Given the description of an element on the screen output the (x, y) to click on. 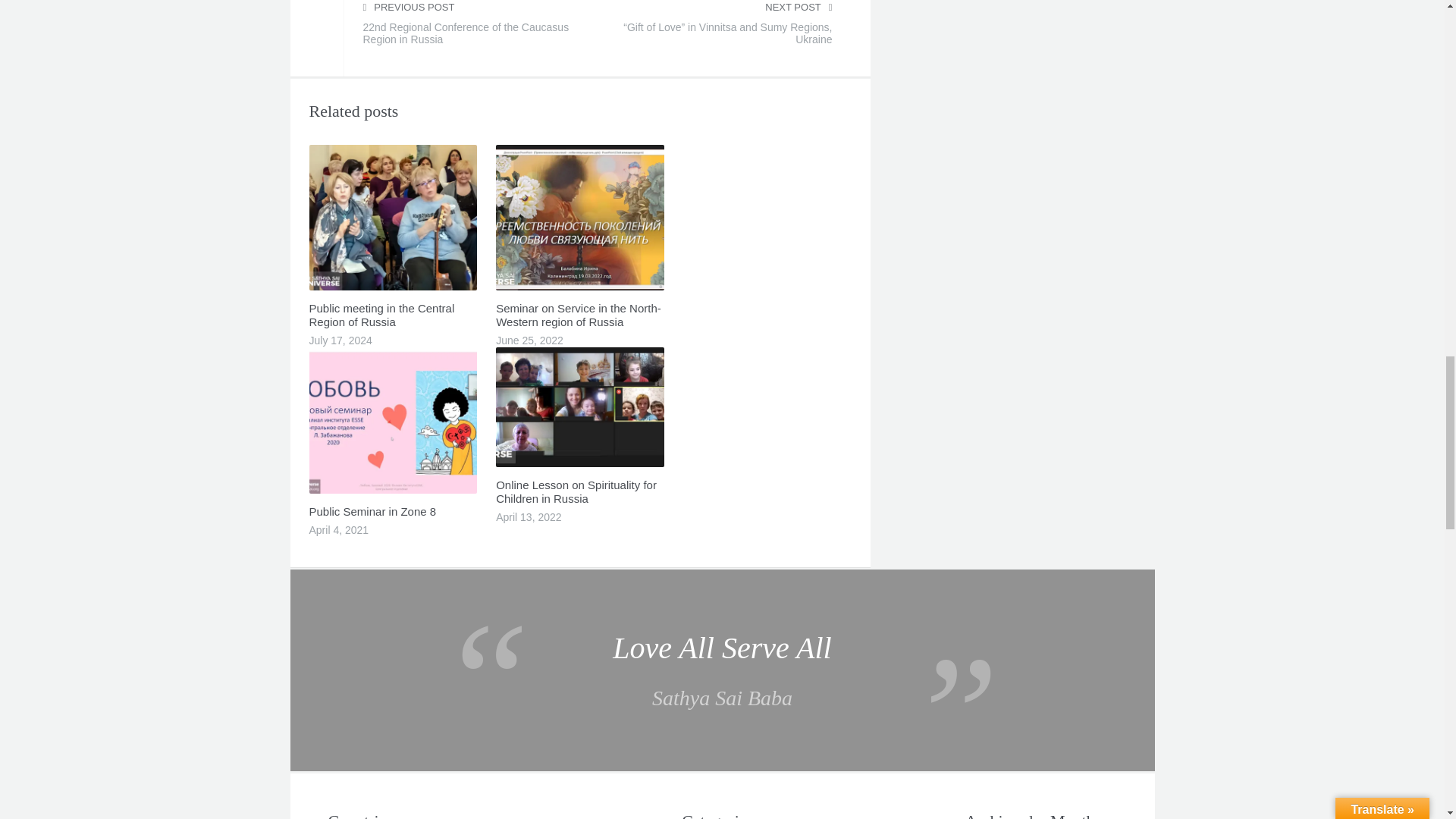
Public meeting in the Central Region of Russia (381, 315)
Seminar on Service in the North-Western region of Russia (578, 315)
